Given the description of an element on the screen output the (x, y) to click on. 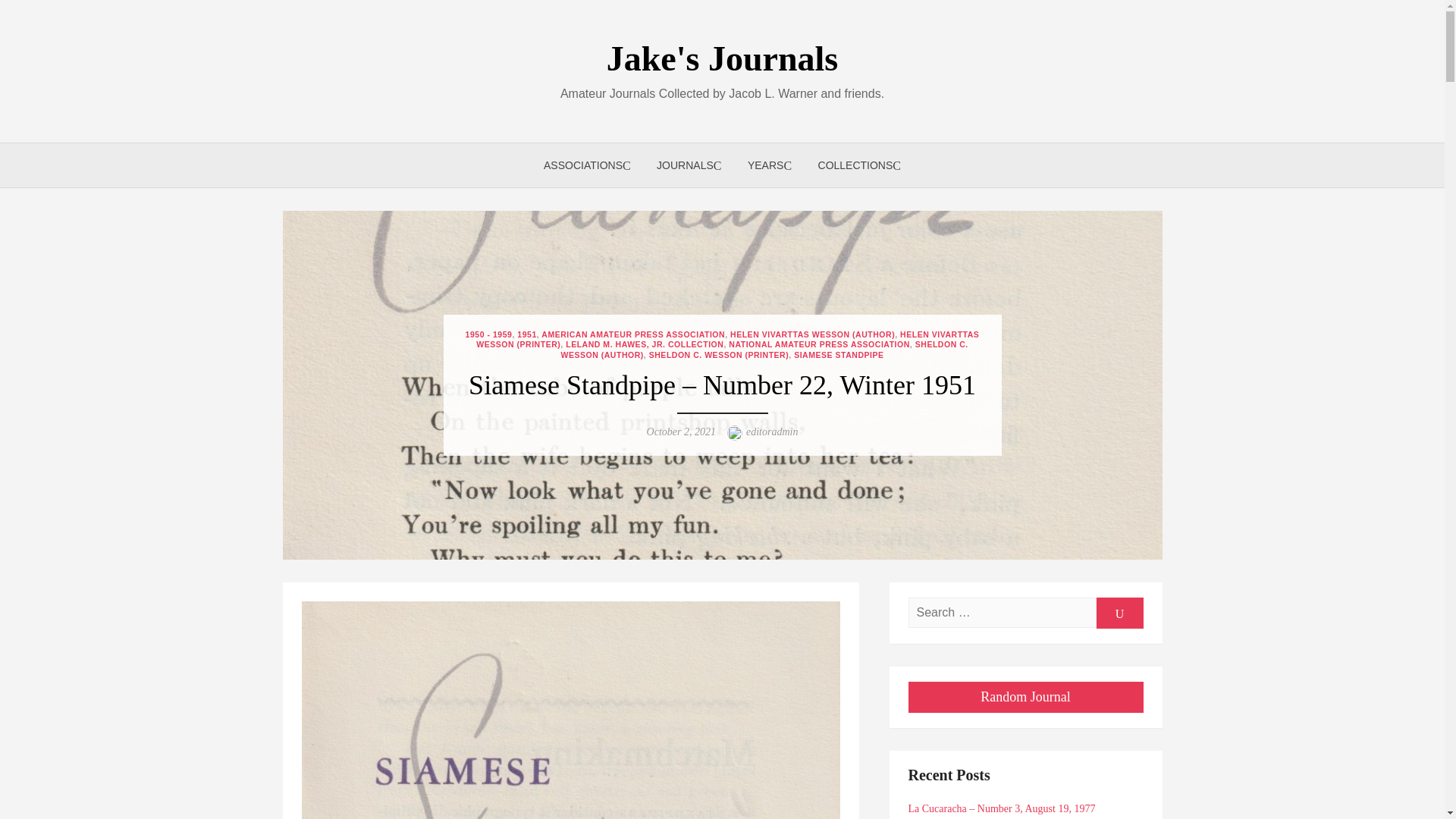
ASSOCIATIONS (587, 165)
JOURNALS (688, 165)
Jake's Journals (722, 58)
